Given the description of an element on the screen output the (x, y) to click on. 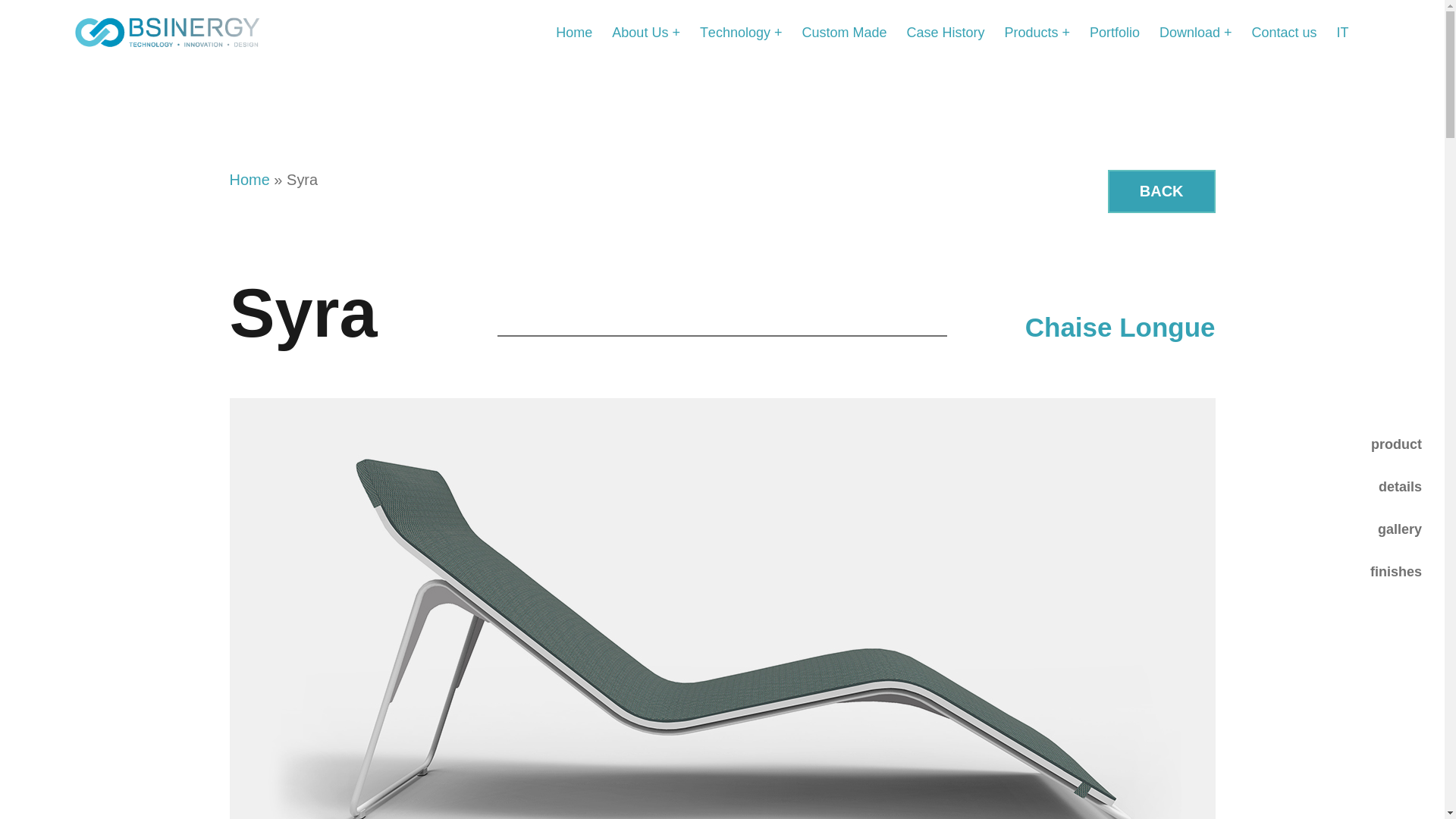
Case History (944, 32)
BSinergy (99, 73)
Home (574, 32)
About Us (645, 32)
Custom Made (844, 32)
Technology (741, 32)
Products (1037, 32)
